Given the description of an element on the screen output the (x, y) to click on. 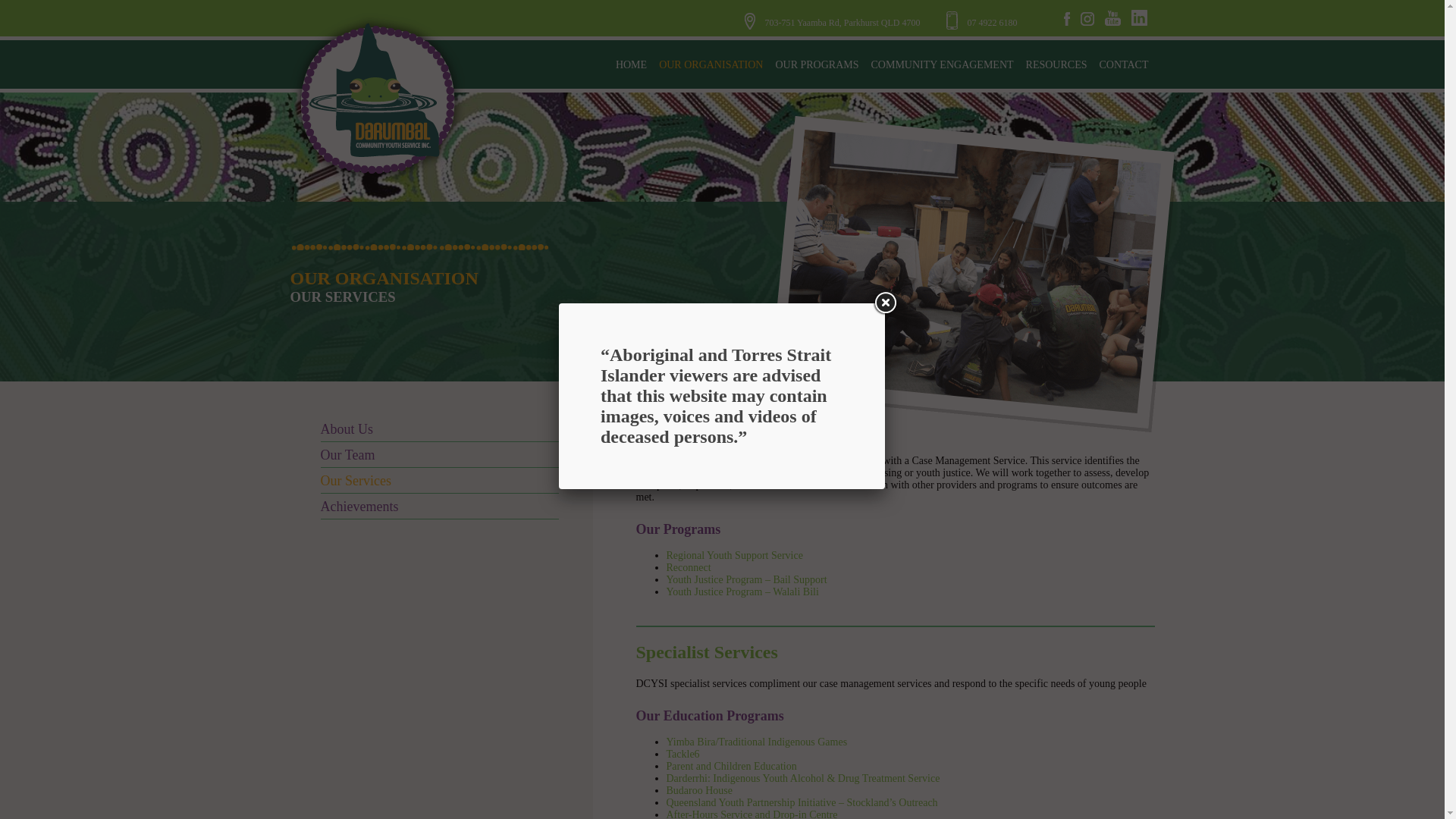
OUR ORGANISATION (710, 64)
OUR PROGRAMS (816, 64)
HOME (631, 64)
CONTACT (1123, 64)
RESOURCES (1056, 64)
07 4922 6180 (981, 22)
COMMUNITY ENGAGEMENT (941, 64)
Close (884, 302)
703-751 Yaamba Rd, Parkhurst QLD 4700 (842, 22)
